Given the description of an element on the screen output the (x, y) to click on. 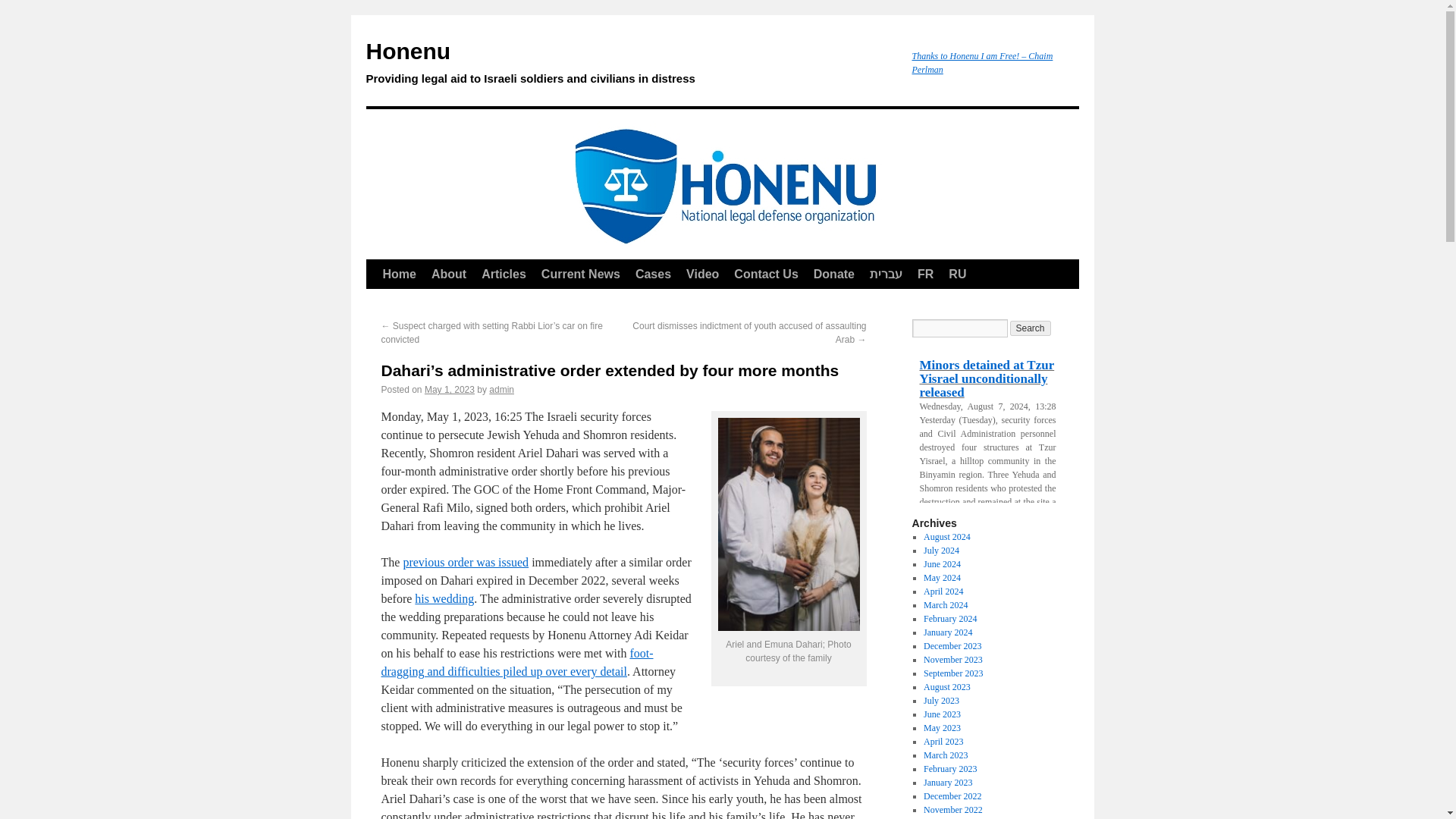
Search (1030, 328)
View all posts by admin (501, 389)
Home (398, 274)
Articles (504, 274)
Minors detained at Tzur Yisrael unconditionally released (986, 378)
Current News (580, 274)
Cases (652, 274)
4:25 pm (449, 389)
About (448, 274)
